Given the description of an element on the screen output the (x, y) to click on. 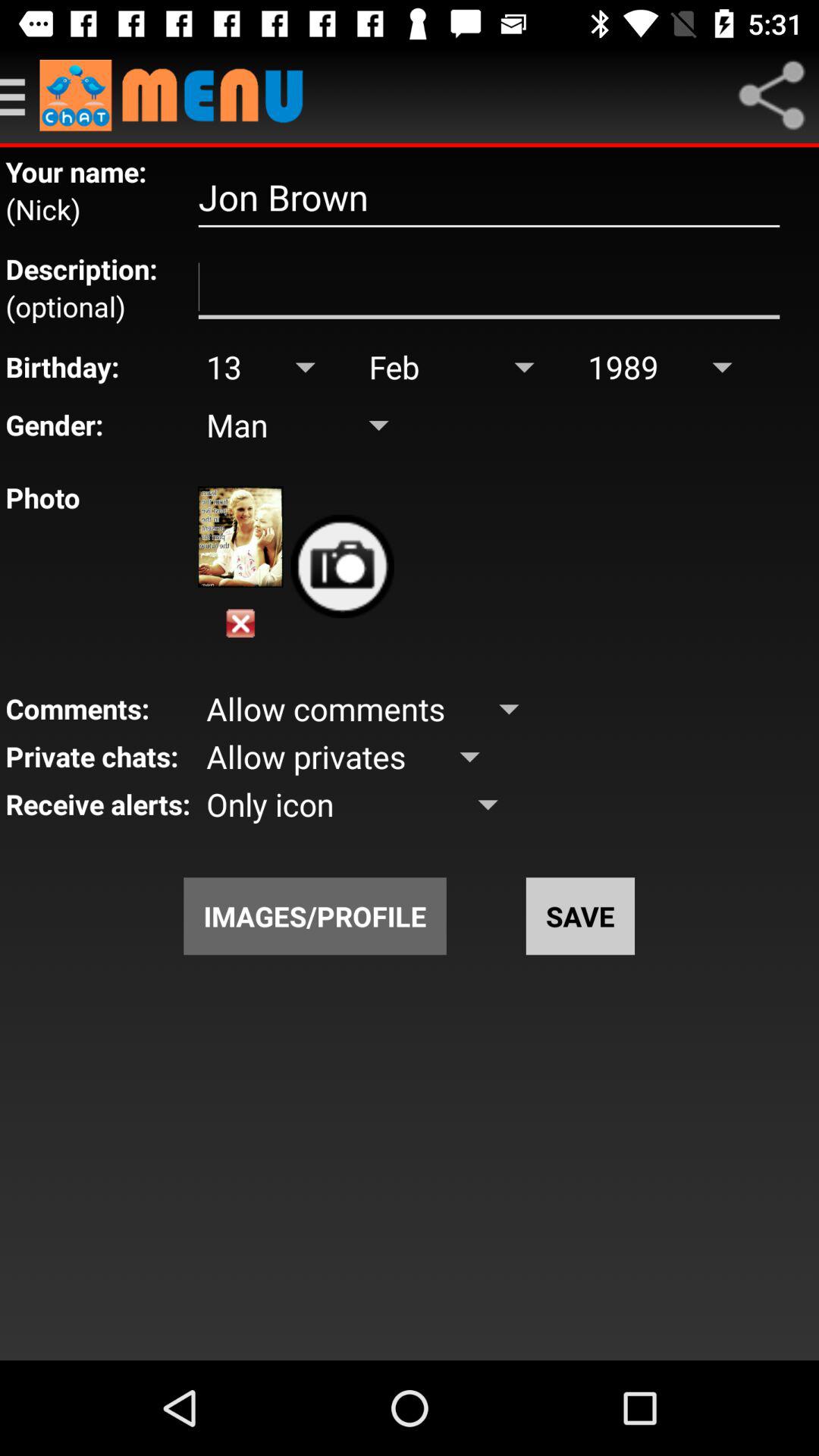
screen page (488, 287)
